Given the description of an element on the screen output the (x, y) to click on. 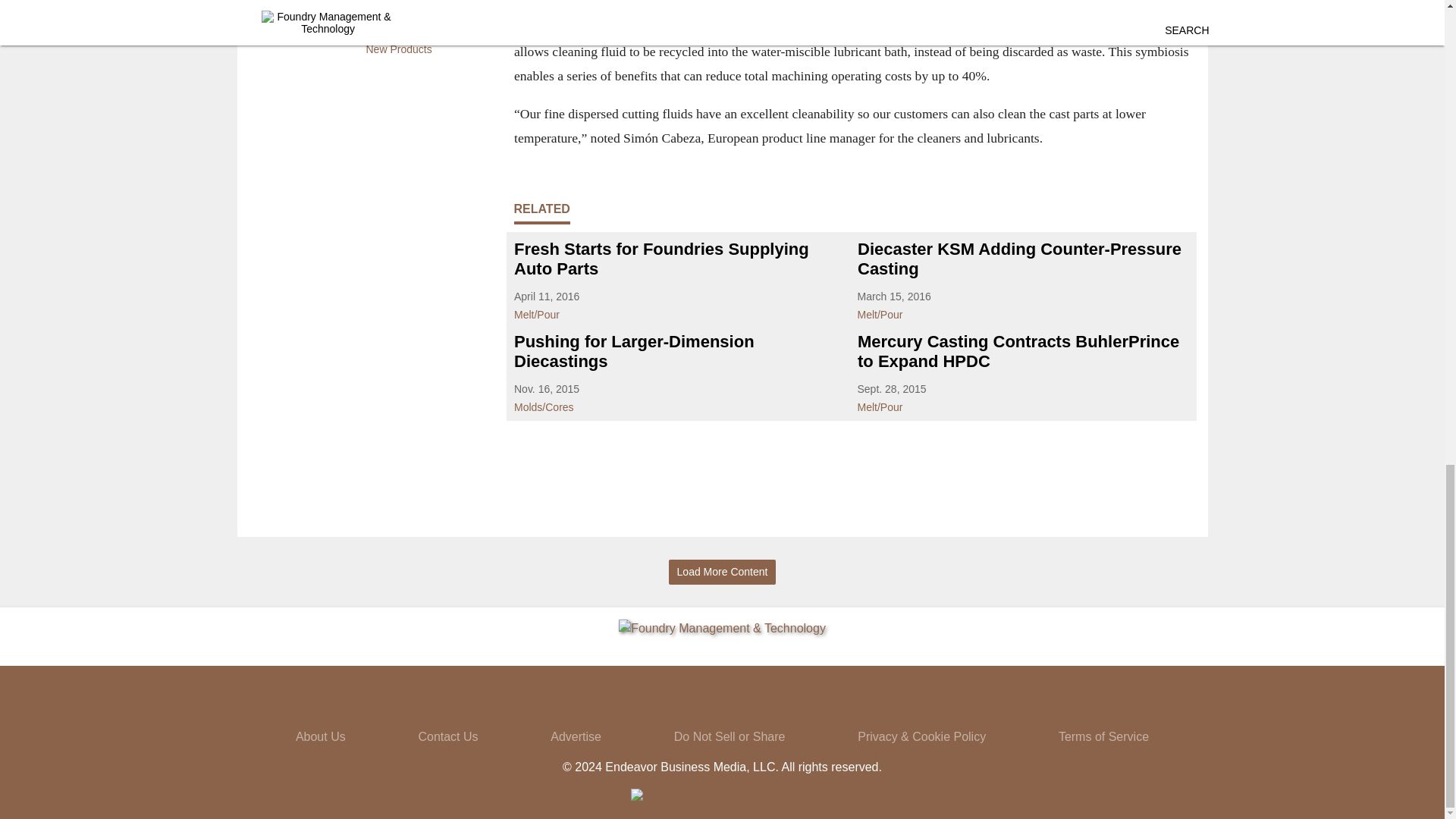
Hanging Rail Shot-Blasting Systems (424, 6)
Fresh Starts for Foundries Supplying Auto Parts (679, 259)
New Products (424, 45)
